Given the description of an element on the screen output the (x, y) to click on. 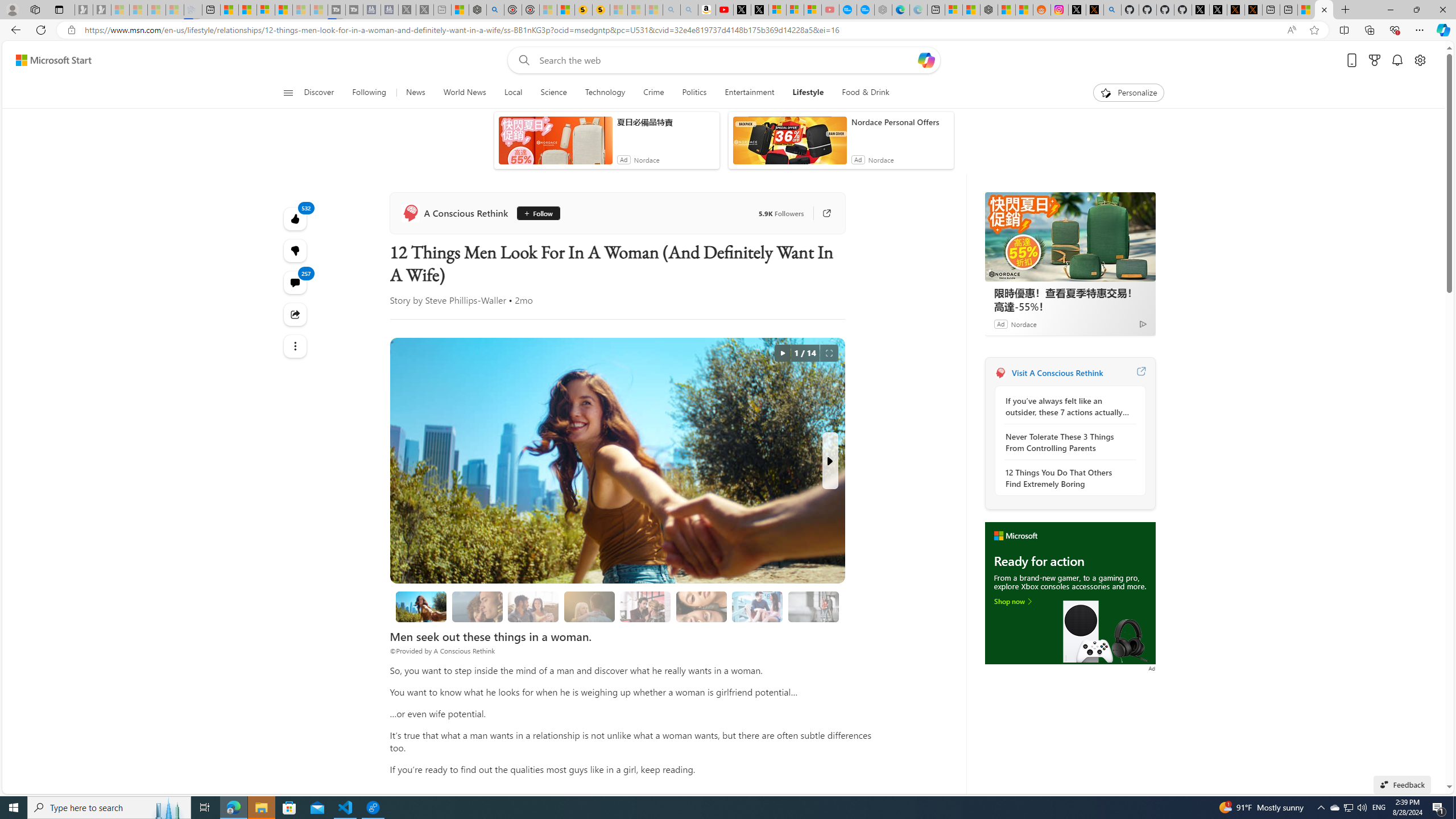
amazon - Search - Sleeping (671, 9)
GitHub (@github) / X (1217, 9)
Politics (694, 92)
Streaming Coverage | T3 - Sleeping (336, 9)
532 Like (295, 218)
autorotate button (782, 352)
7. She can communicate her needs and wants. (813, 606)
Lifestyle (808, 92)
Overview (265, 9)
